Given the description of an element on the screen output the (x, y) to click on. 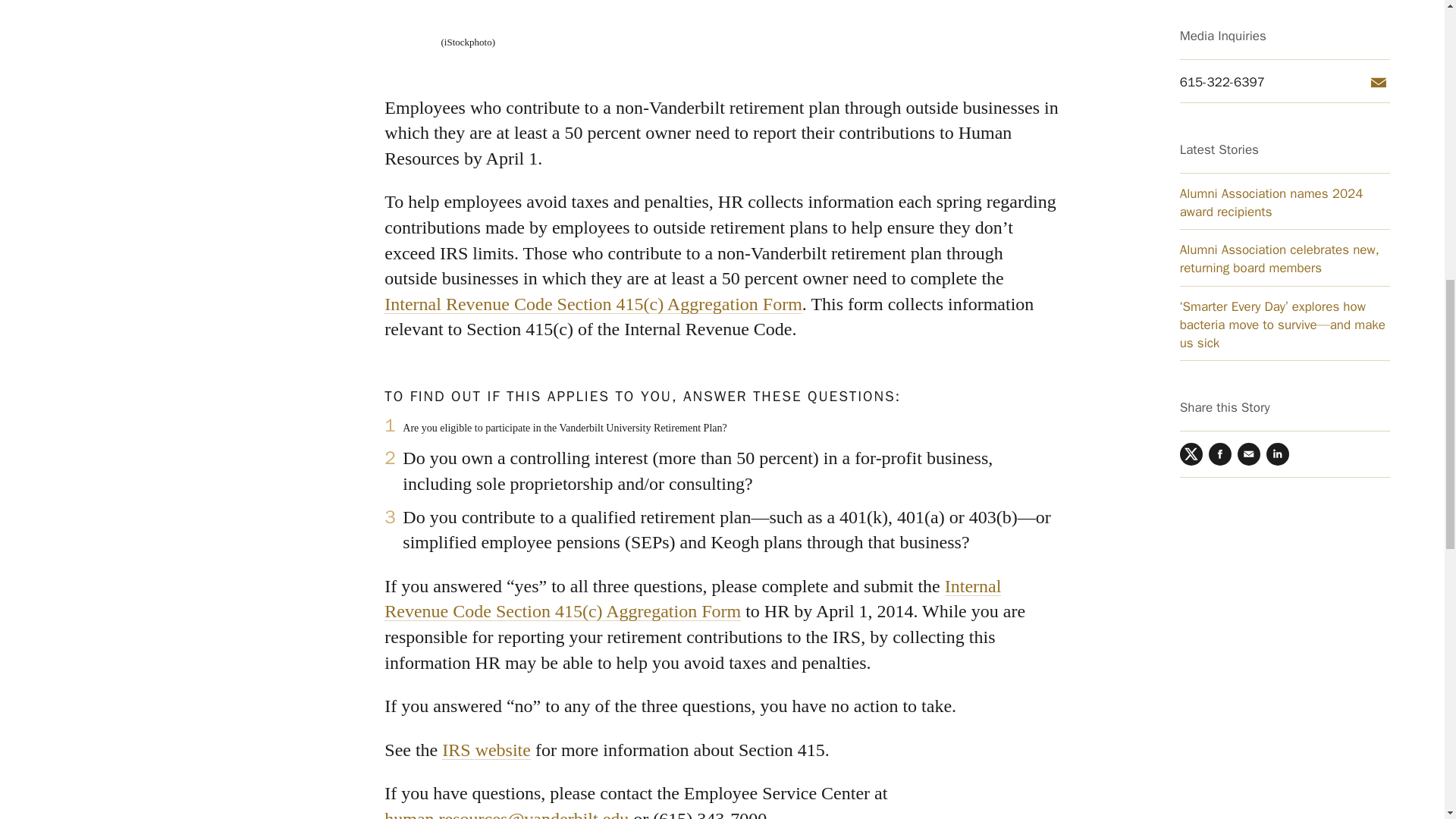
Facebook (1219, 32)
LinkedIn (1277, 32)
IRS website (486, 750)
Email (1248, 32)
Twitter (1190, 32)
